Given the description of an element on the screen output the (x, y) to click on. 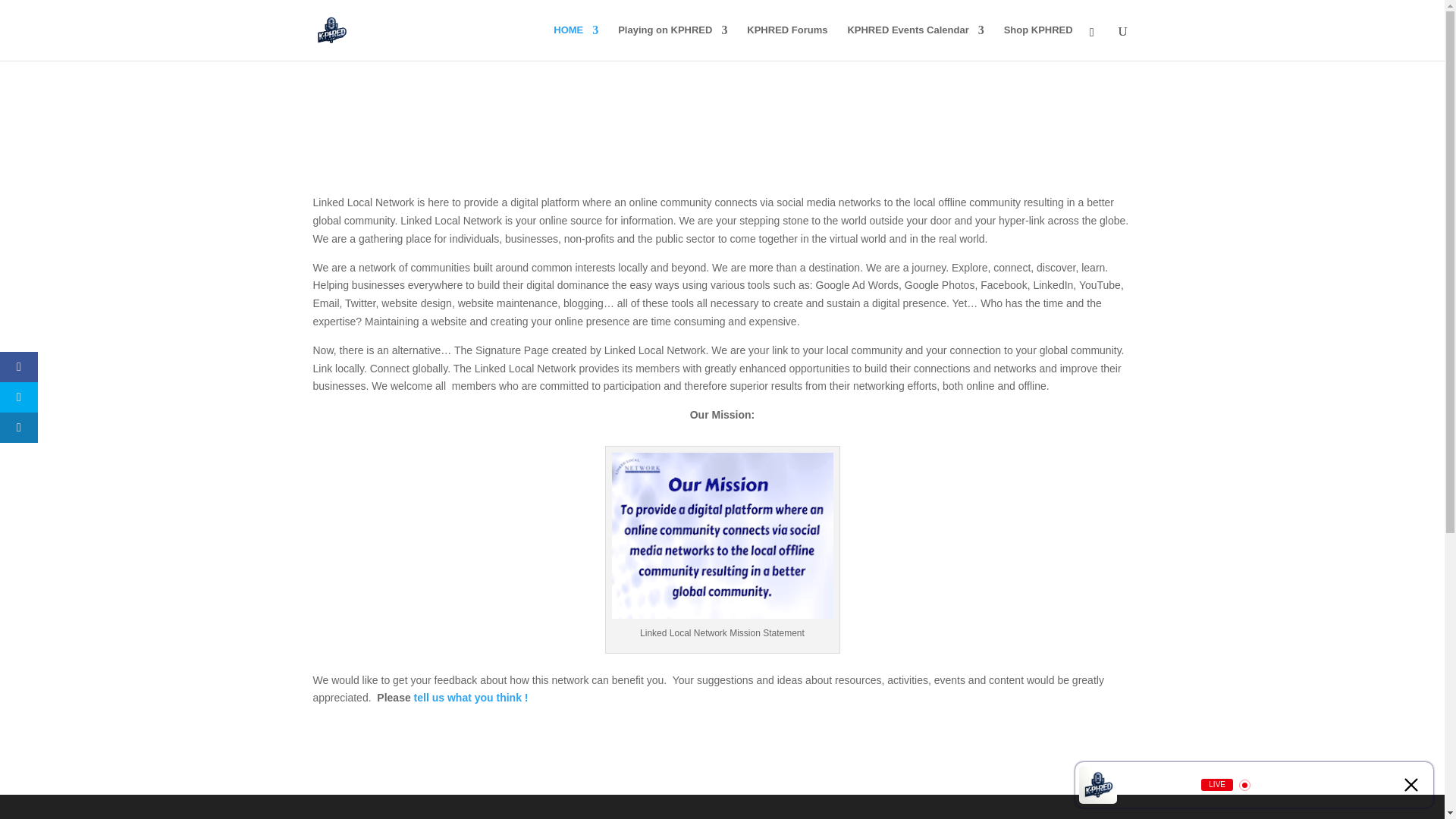
Playing on KPHRED (671, 42)
Open Popup (1345, 784)
Play (1276, 784)
Minimize Player (1411, 784)
History (1378, 784)
HOME (575, 42)
